Given the description of an element on the screen output the (x, y) to click on. 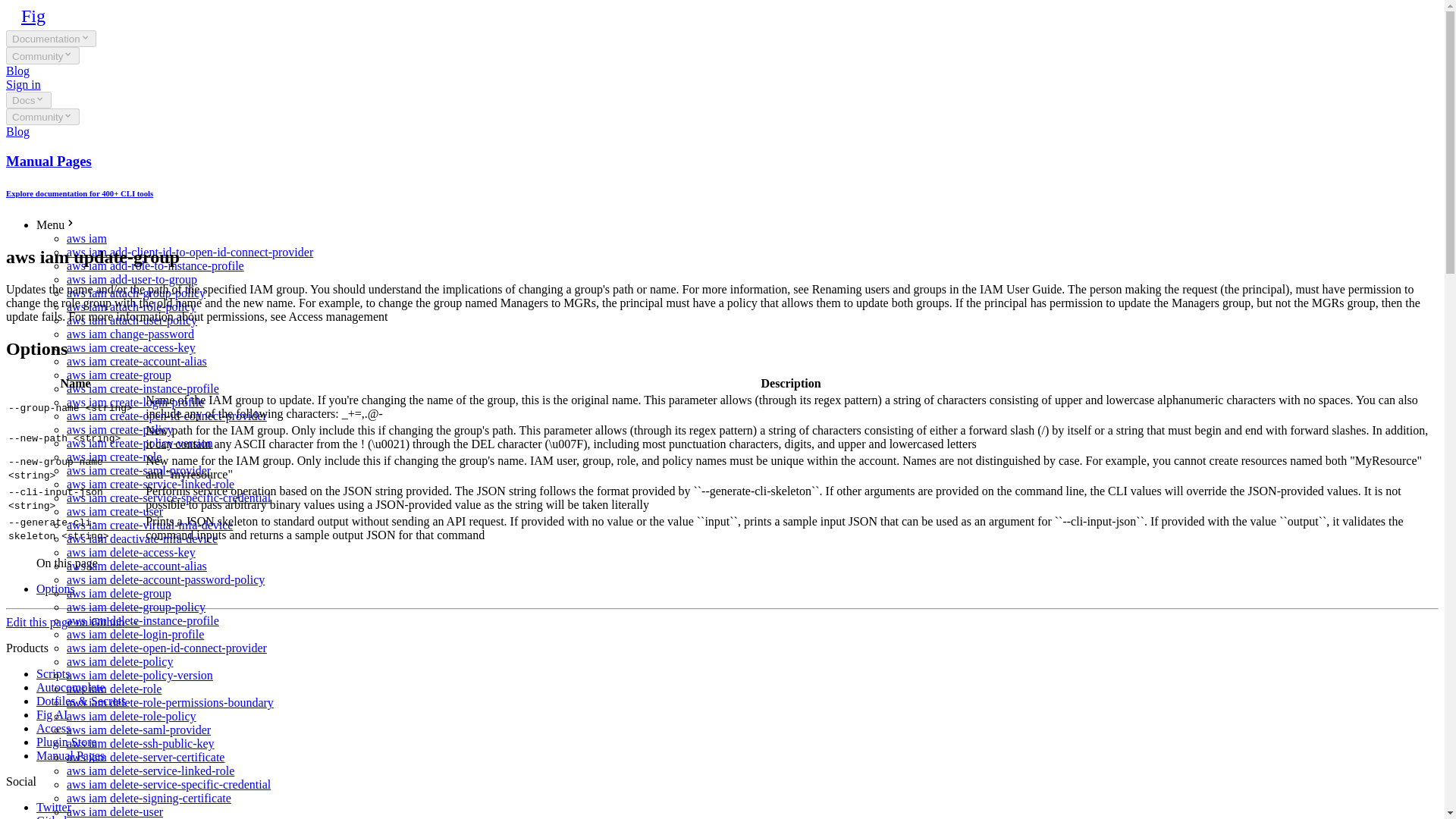
aws iam delete-group (118, 593)
aws iam create-access-key (130, 347)
aws iam delete-group-policy (135, 606)
aws iam create-instance-profile (142, 388)
Documentation (50, 38)
aws iam create-service-specific-credential (168, 497)
aws iam add-client-id-to-open-id-connect-provider (189, 251)
Community (42, 116)
aws iam delete-instance-profile (142, 620)
aws iam (86, 237)
aws iam delete-login-profile (134, 634)
aws iam create-policy-version (139, 442)
aws iam attach-group-policy (135, 292)
aws iam create-account-alias (136, 360)
aws iam delete-open-id-connect-provider (166, 647)
